Given the description of an element on the screen output the (x, y) to click on. 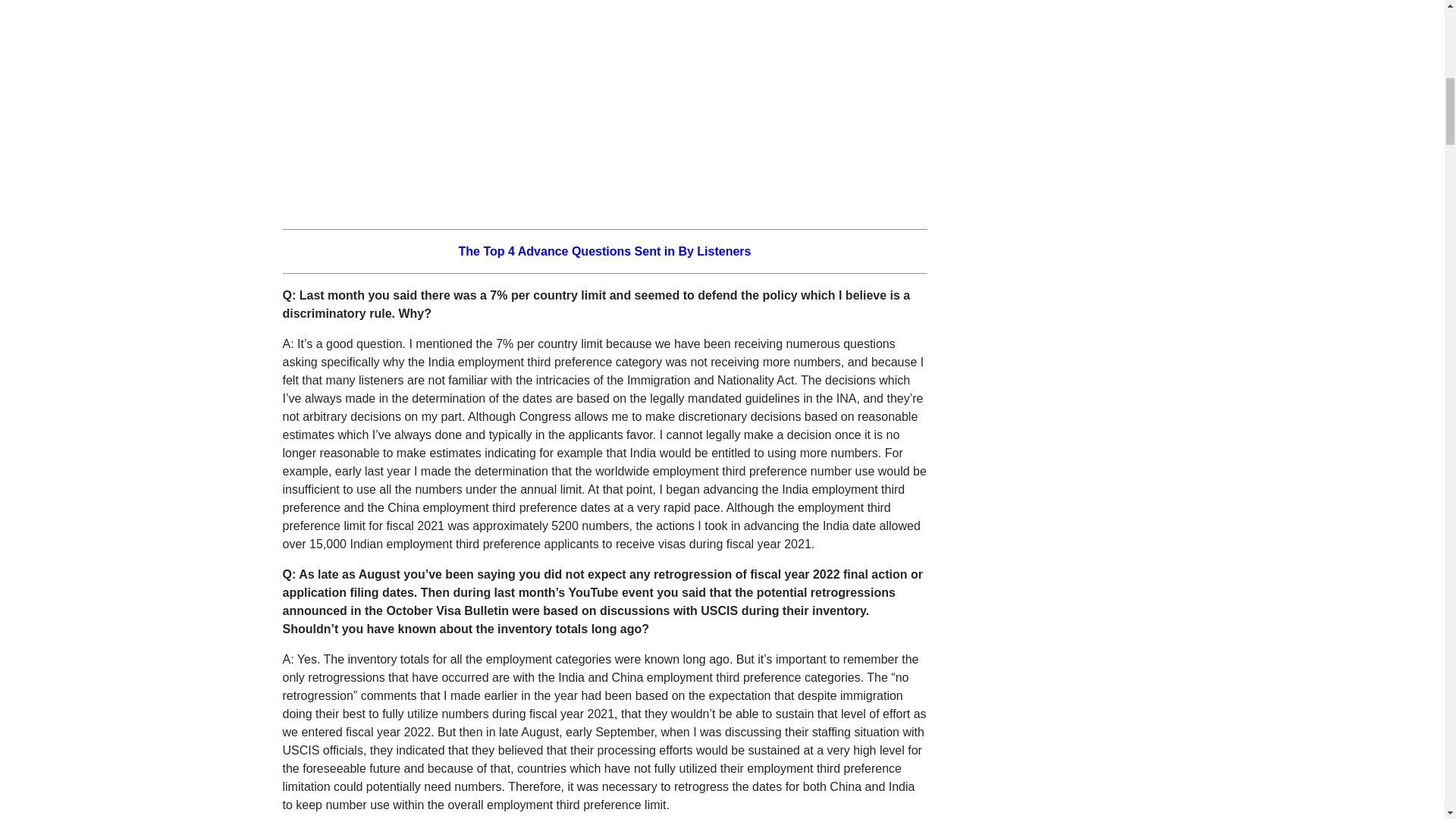
Chats with Charlie - November Visa Bulletin (471, 105)
